Given the description of an element on the screen output the (x, y) to click on. 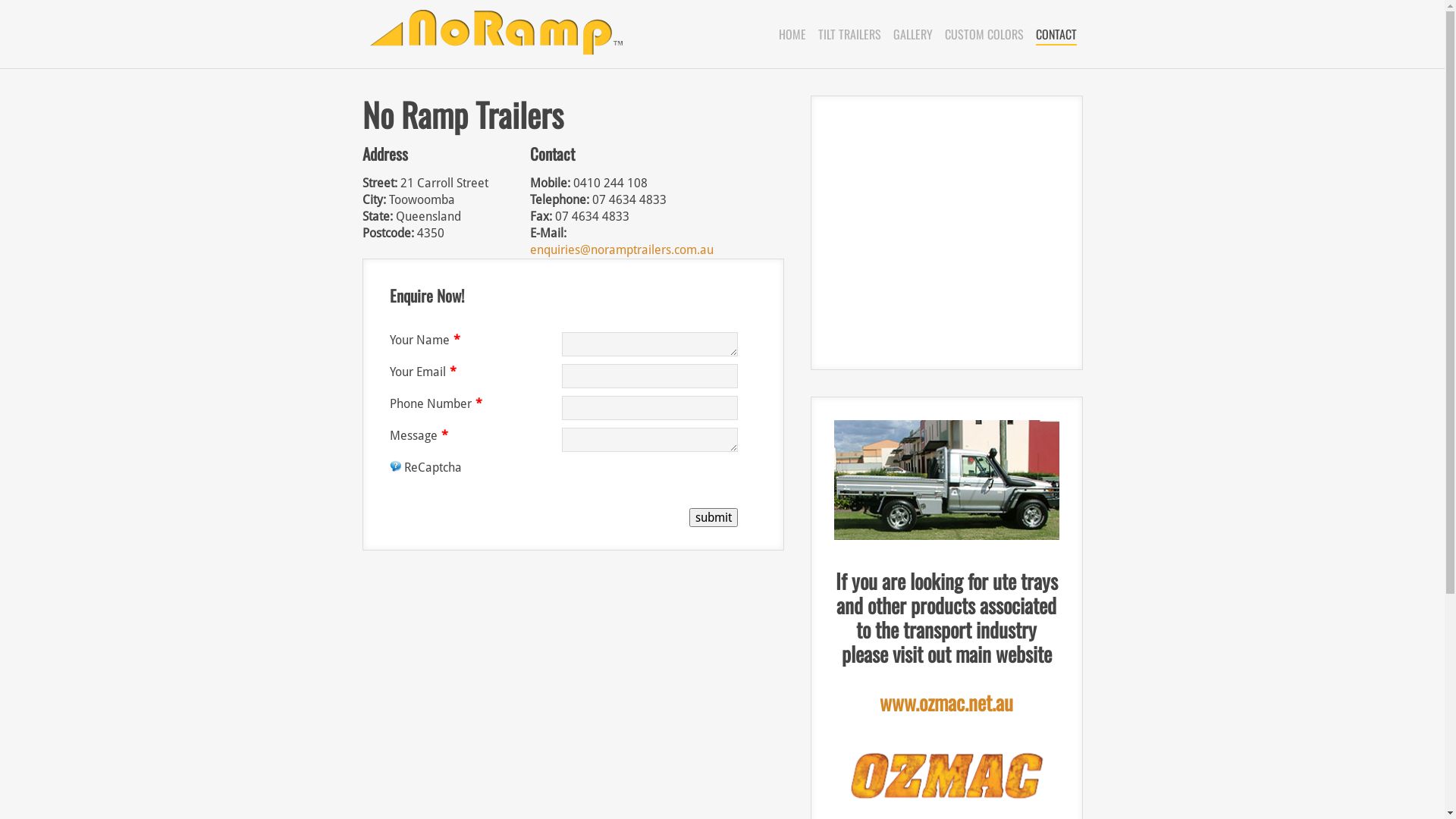
enquiries@noramptrailers.com.au Element type: text (621, 249)
www.ozmac.net.au Element type: text (946, 714)
HOME Element type: text (791, 34)
GALLERY Element type: text (912, 34)
CONTACT Element type: text (1055, 34)
TILT TRAILERS Element type: text (848, 34)
submit Element type: text (712, 517)
CUSTOM COLORS Element type: text (983, 34)
